Given the description of an element on the screen output the (x, y) to click on. 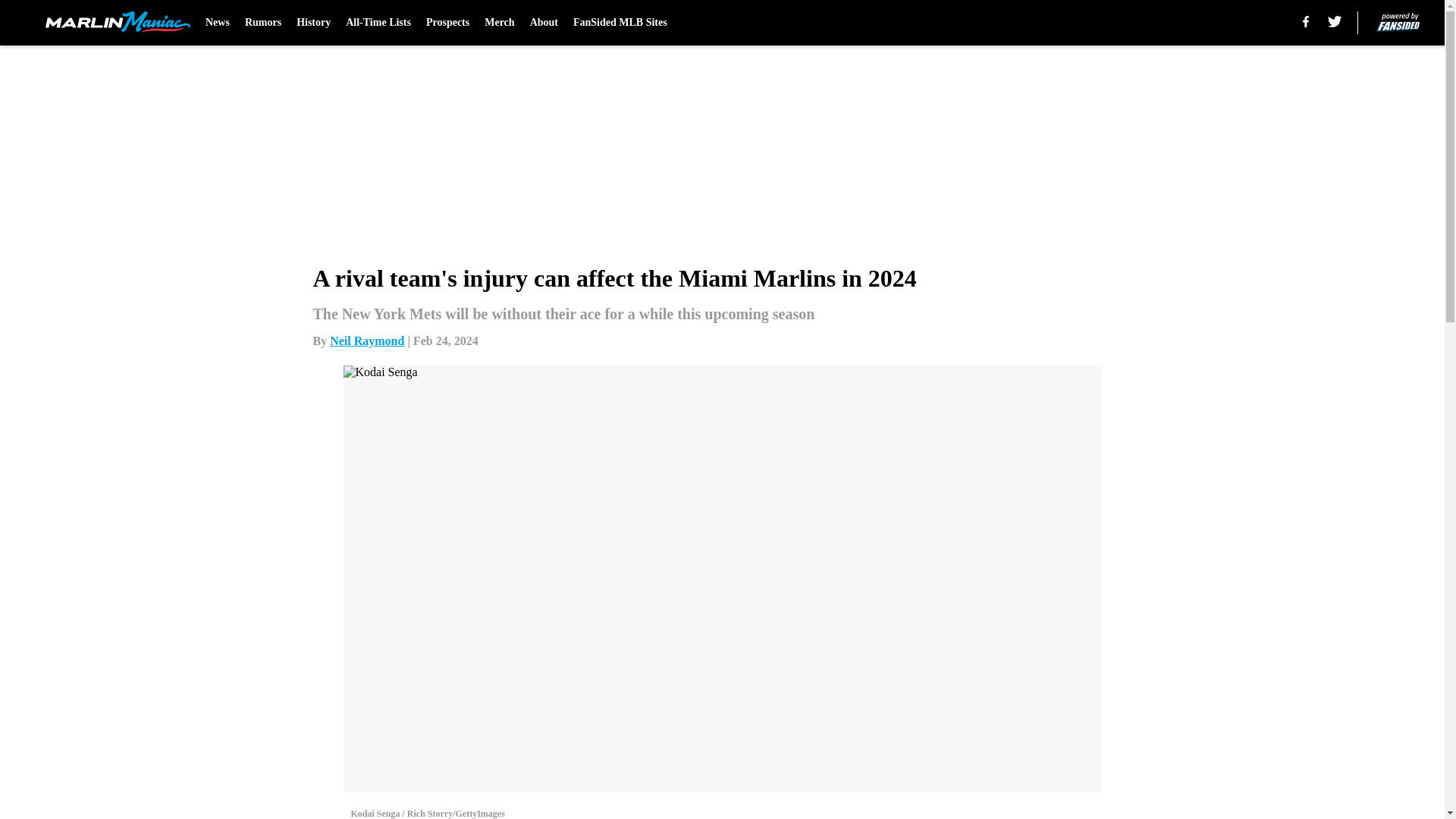
FanSided MLB Sites (619, 22)
Neil Raymond (367, 340)
All-Time Lists (378, 22)
History (313, 22)
Merch (498, 22)
Rumors (262, 22)
Prospects (447, 22)
News (217, 22)
About (543, 22)
